Given the description of an element on the screen output the (x, y) to click on. 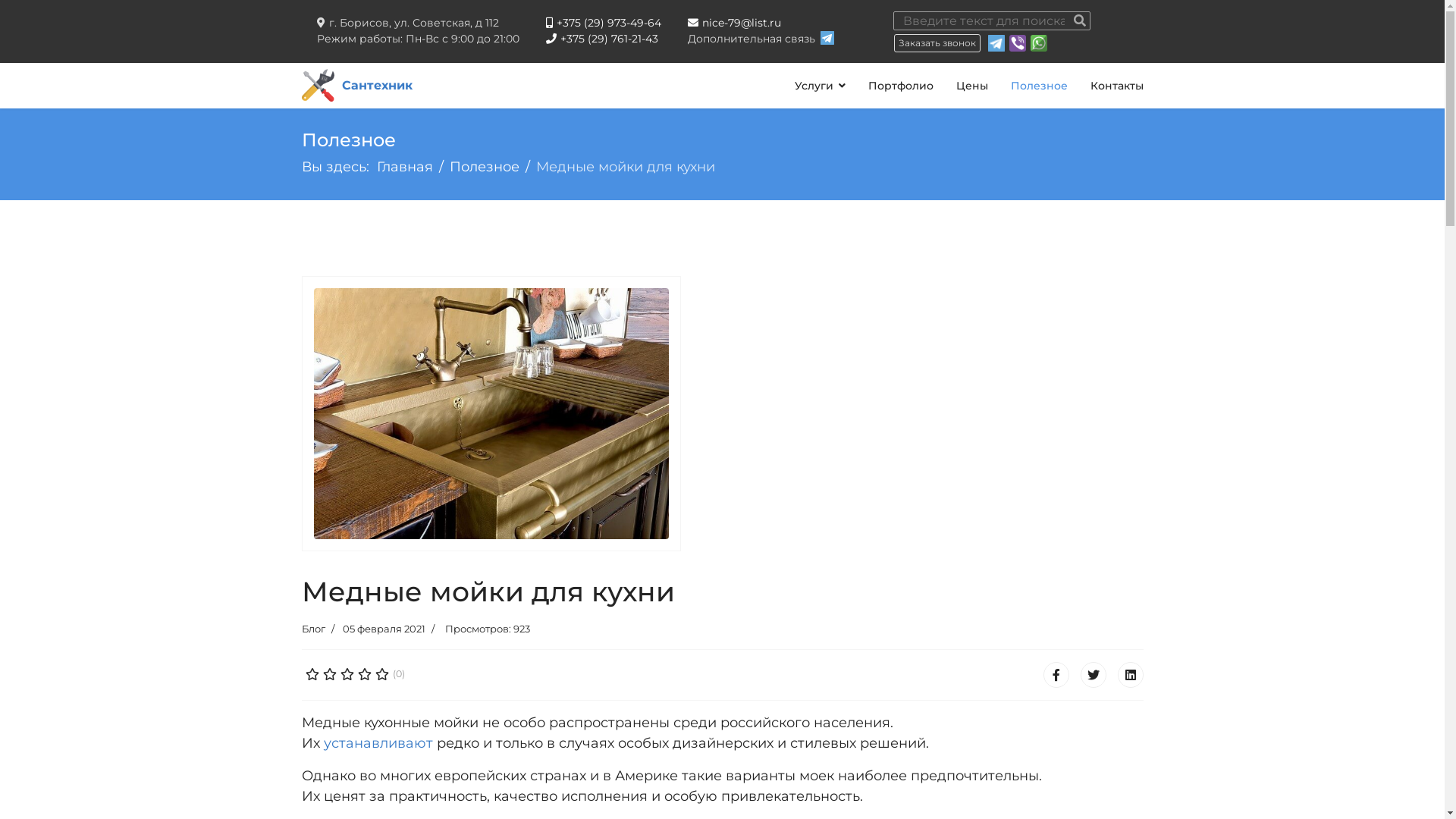
+375 (29) 761-21-43 Element type: text (602, 38)
Facebook Element type: hover (1056, 674)
+375 (29) 973-49-64 Element type: text (603, 22)
Twitter Element type: hover (1092, 674)
LinkedIn Element type: hover (1130, 674)
nice-79@list.ru Element type: text (733, 22)
